Given the description of an element on the screen output the (x, y) to click on. 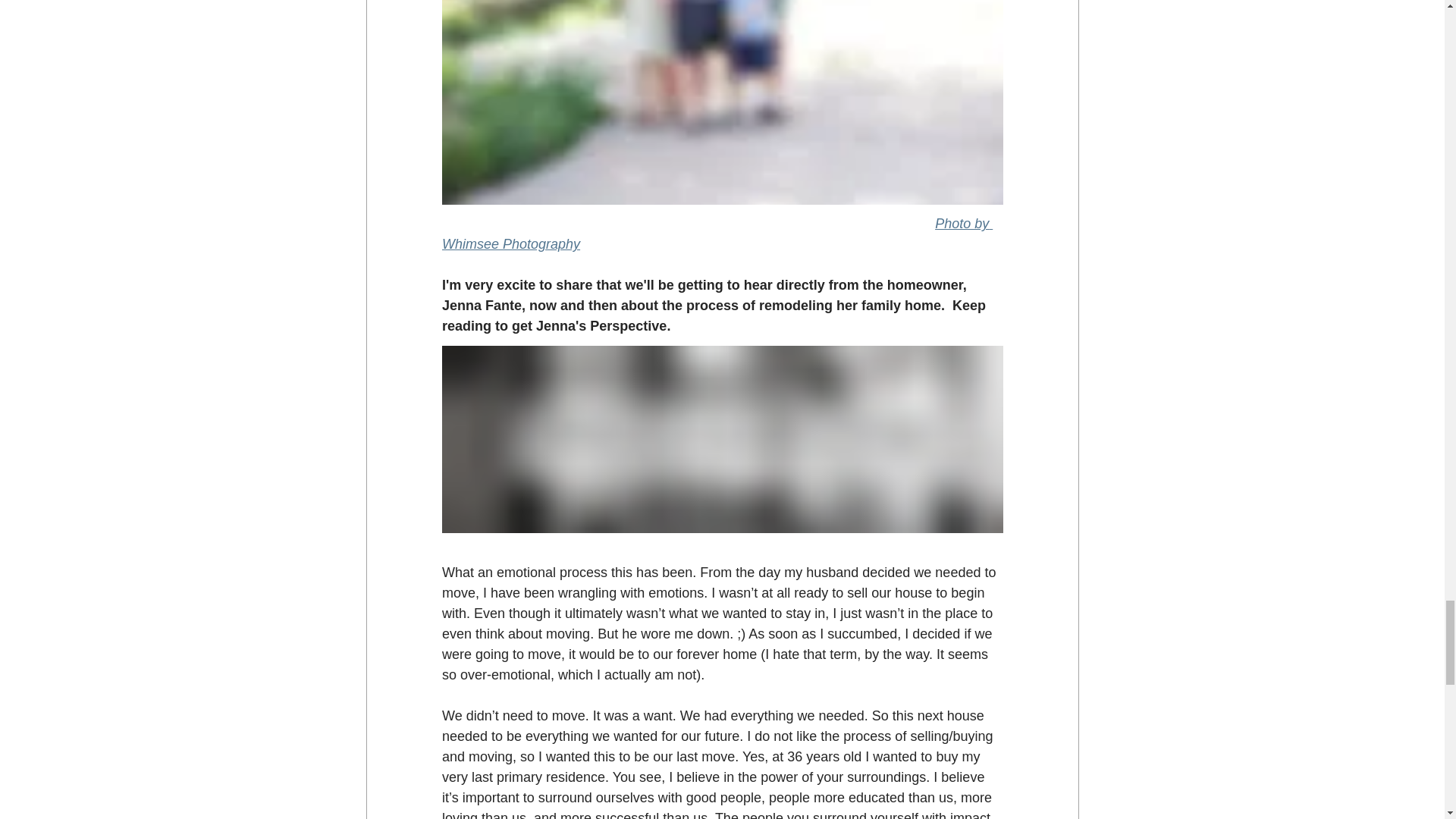
Photo by Whimsee Photography (716, 233)
